Given the description of an element on the screen output the (x, y) to click on. 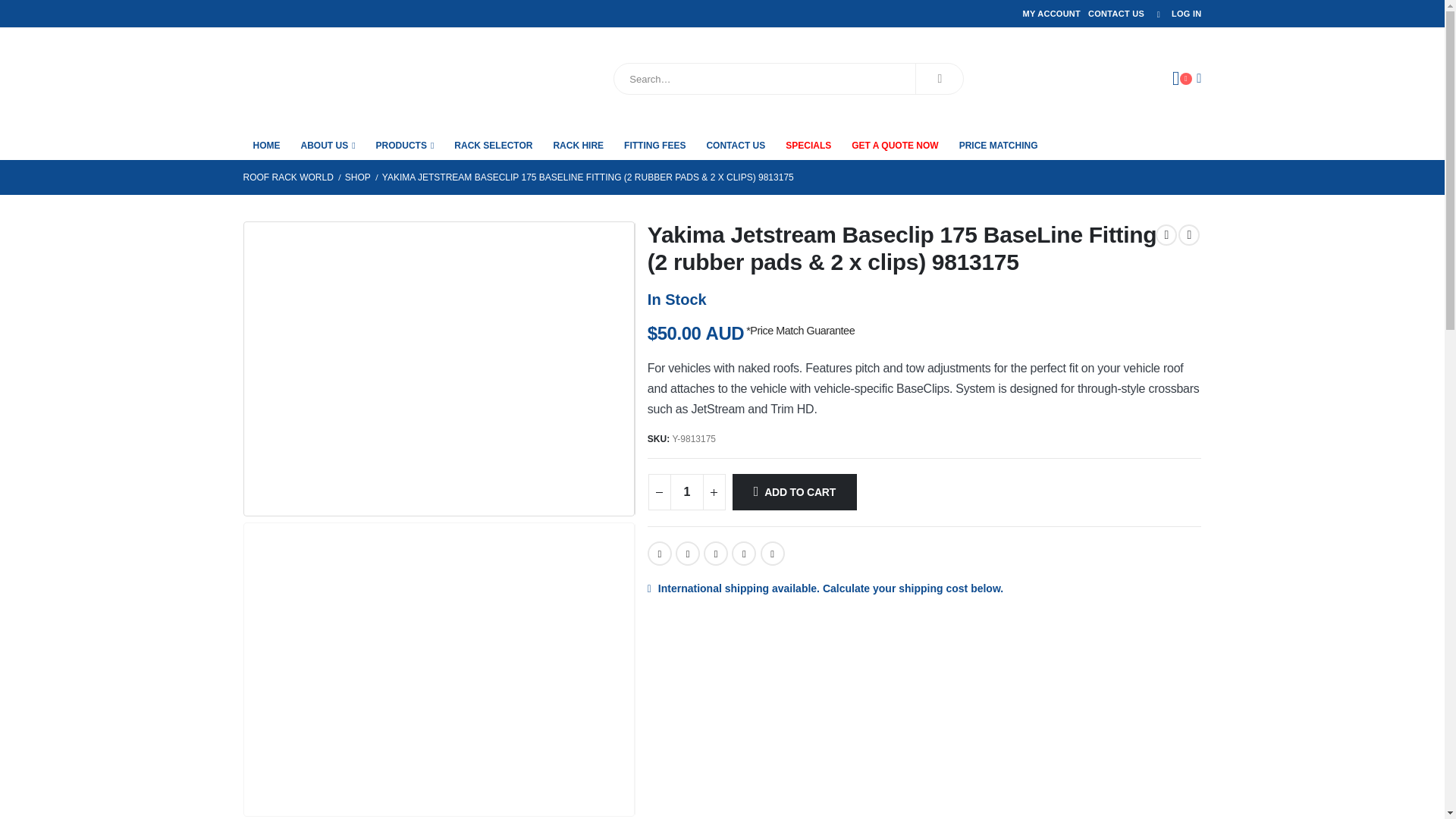
Roof Rack World - SA's largest collection of roofracks (328, 78)
Twitter (687, 553)
PRODUCTS (405, 144)
baselinclipsyakimajetstreamroofrackworldsa (438, 362)
CONTACT US (1116, 13)
Facebook (659, 553)
Search (938, 78)
ABOUT US (328, 144)
HOME (266, 144)
1 (686, 492)
LinkedIn (715, 553)
LOG IN (1174, 13)
Email (772, 553)
MY ACCOUNT (1050, 13)
